Given the description of an element on the screen output the (x, y) to click on. 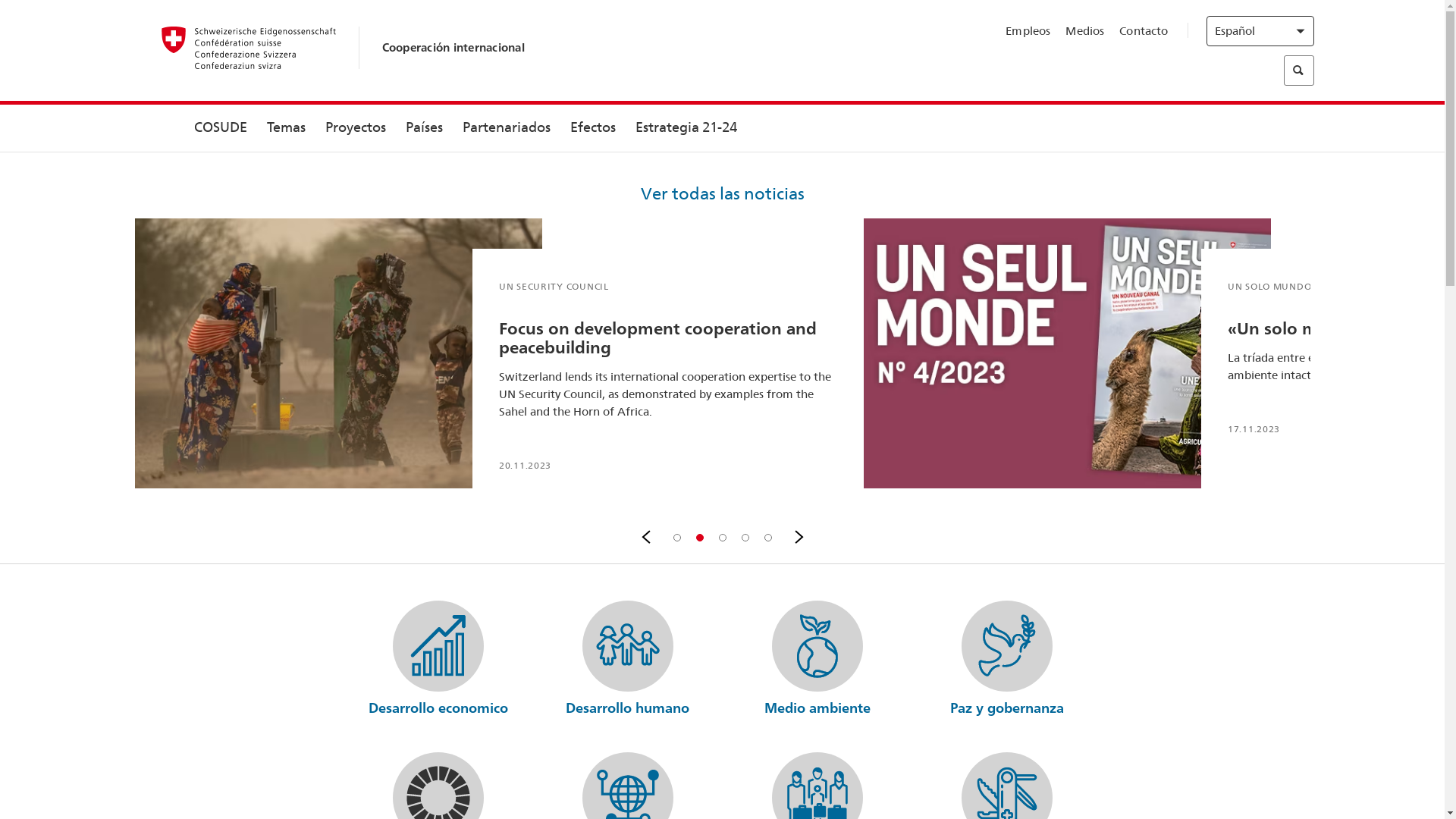
Medios Element type: text (1084, 30)
COSUDE Element type: text (219, 127)
Temas Element type: text (285, 127)
Contacto Element type: text (1143, 30)
Estrategia 21-24 Element type: text (685, 127)
Partenariados Element type: text (505, 127)
Empleos Element type: text (1027, 30)
Proyectos Element type: text (355, 127)
Efectos Element type: text (591, 127)
Ver todas las noticias Element type: text (722, 200)
